Given the description of an element on the screen output the (x, y) to click on. 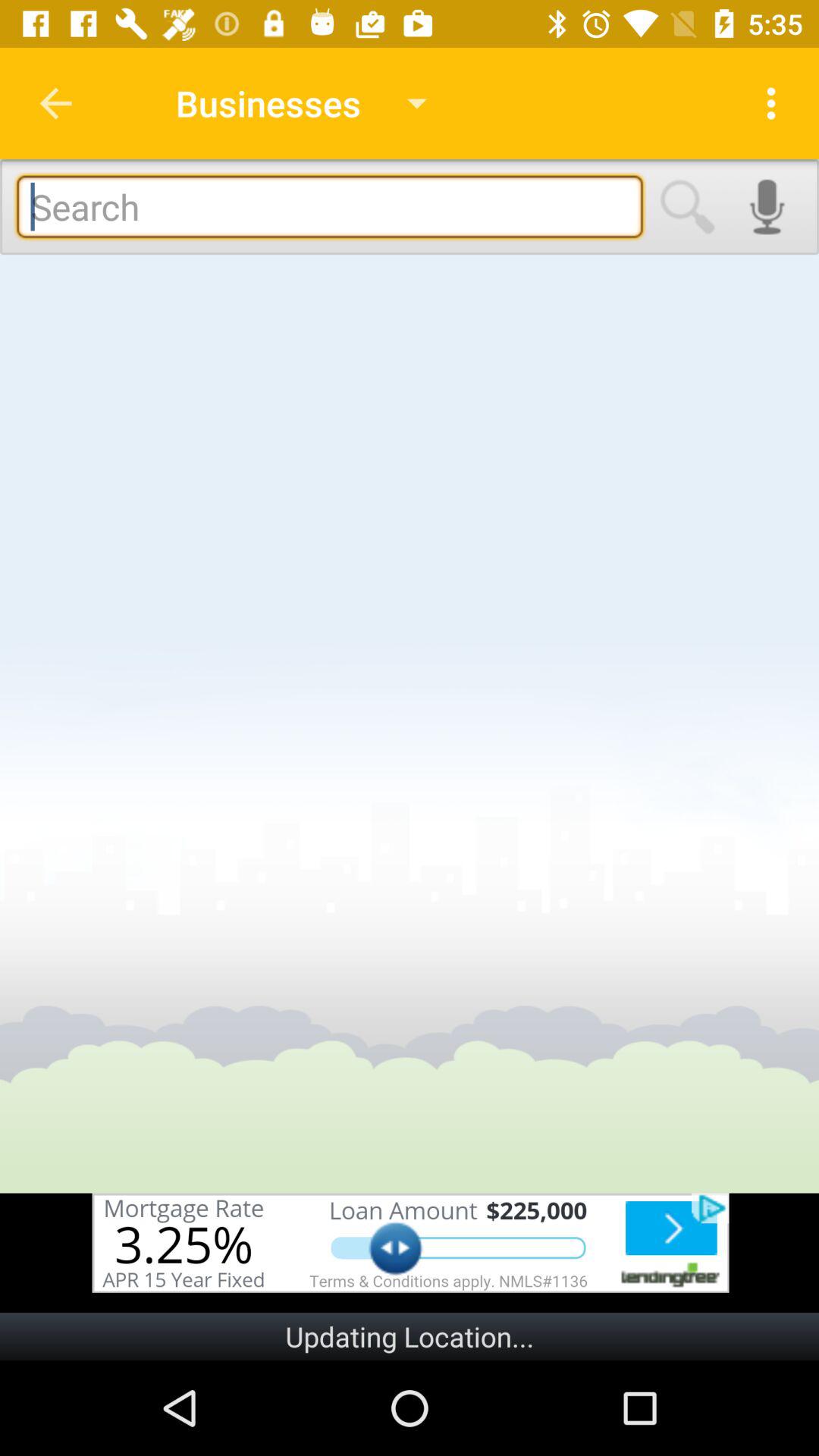
in textbox to type the search queries (329, 206)
